Given the description of an element on the screen output the (x, y) to click on. 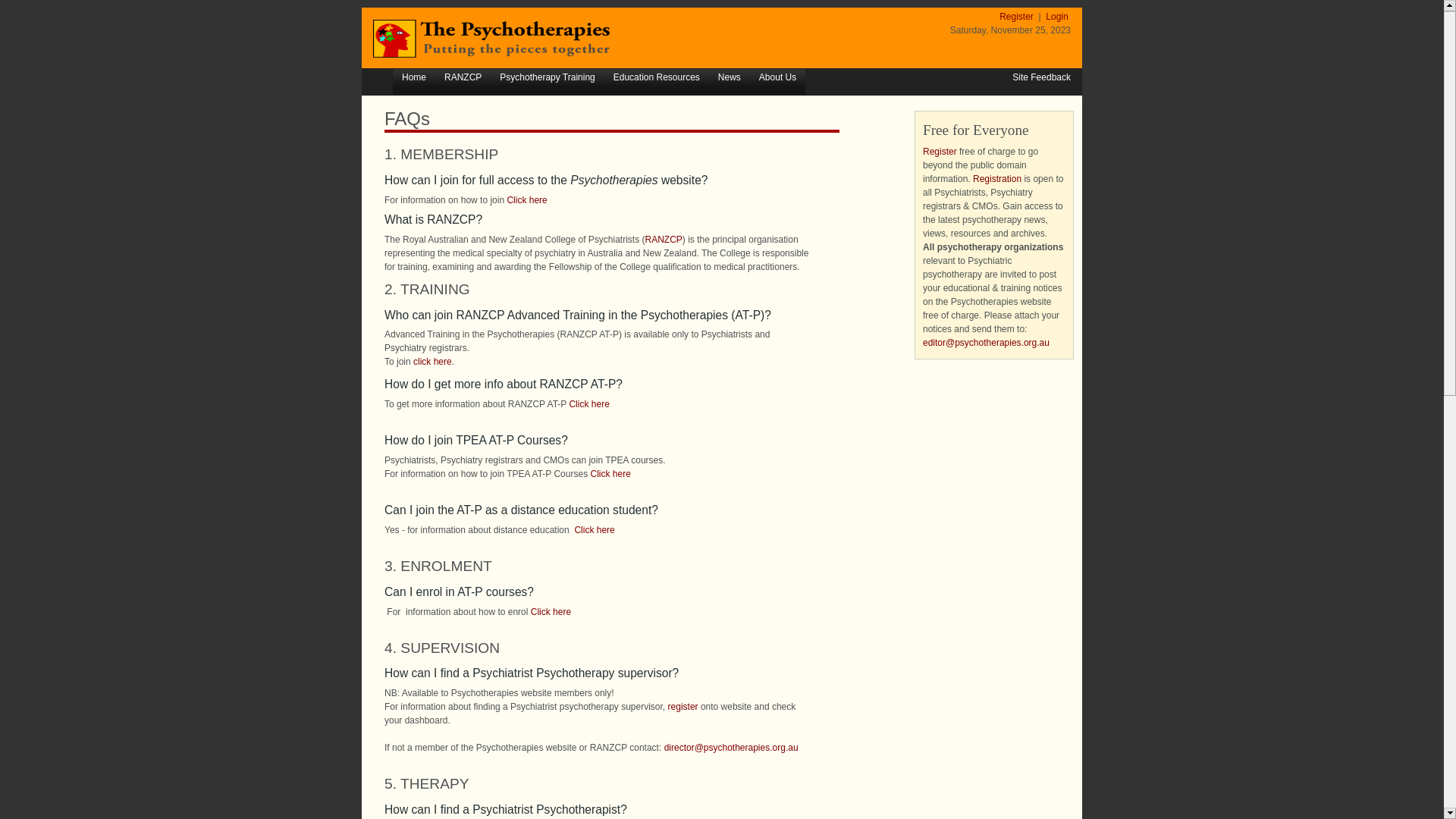
Click here Element type: text (594, 529)
Click here Element type: text (588, 403)
Click here Element type: text (550, 611)
Registration Element type: text (996, 178)
RANZCP Element type: text (662, 239)
click here Element type: text (432, 361)
News Element type: text (729, 78)
Register Element type: text (1017, 16)
Login Element type: text (1056, 16)
Site Feedback Element type: text (1041, 77)
Register Element type: text (939, 151)
About Us Element type: text (777, 78)
Psychotherapy Training Element type: text (546, 78)
RANZCP Element type: text (462, 78)
Home Element type: text (413, 78)
register Element type: text (683, 706)
Click here Element type: text (526, 199)
Click here Element type: text (609, 473)
Education Resources Element type: text (656, 78)
editor@psychotherapies.org.au Element type: text (985, 342)
director@psychotherapies.org.au Element type: text (731, 747)
